Given the description of an element on the screen output the (x, y) to click on. 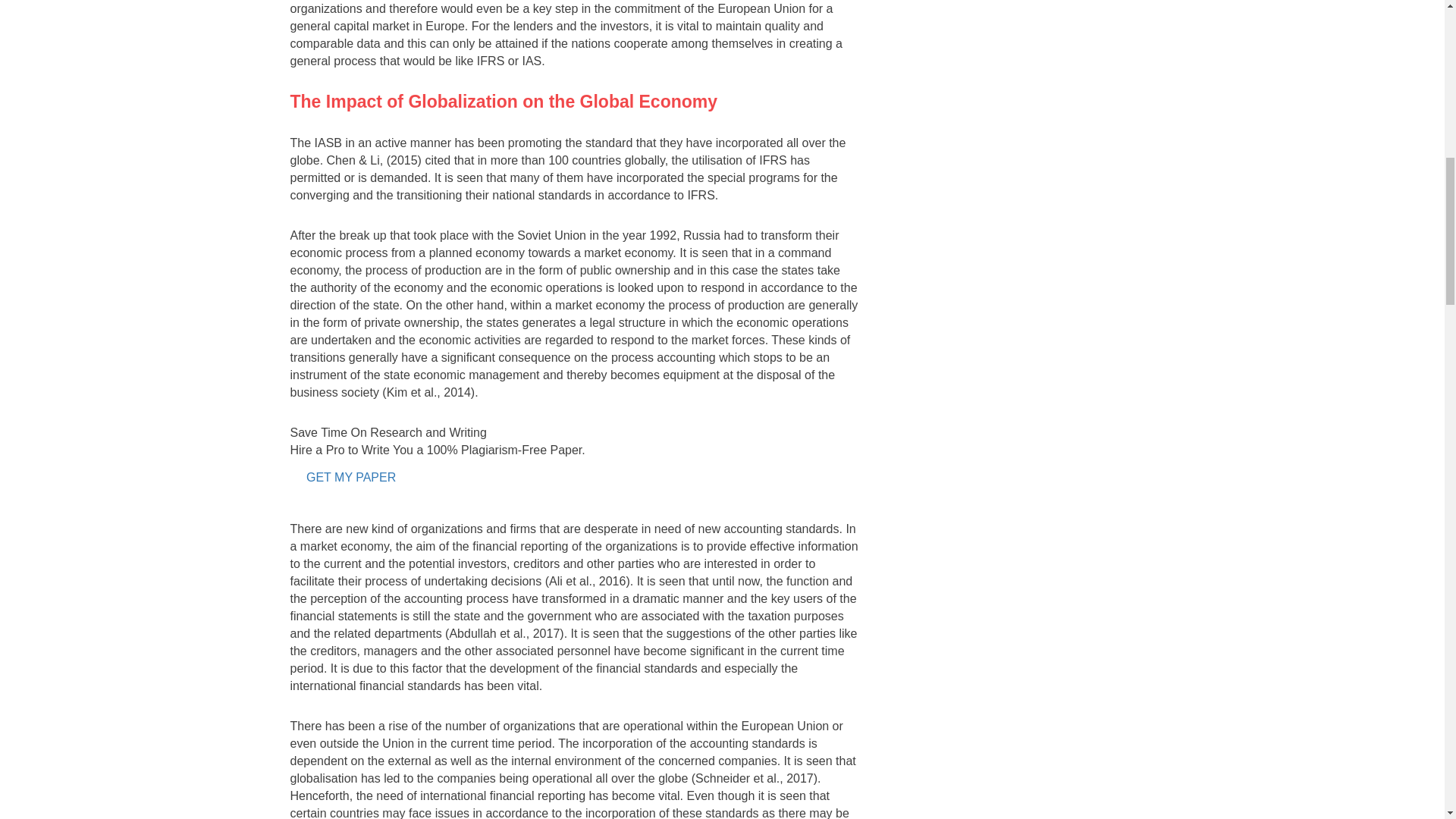
GET MY PAPER (349, 477)
